Given the description of an element on the screen output the (x, y) to click on. 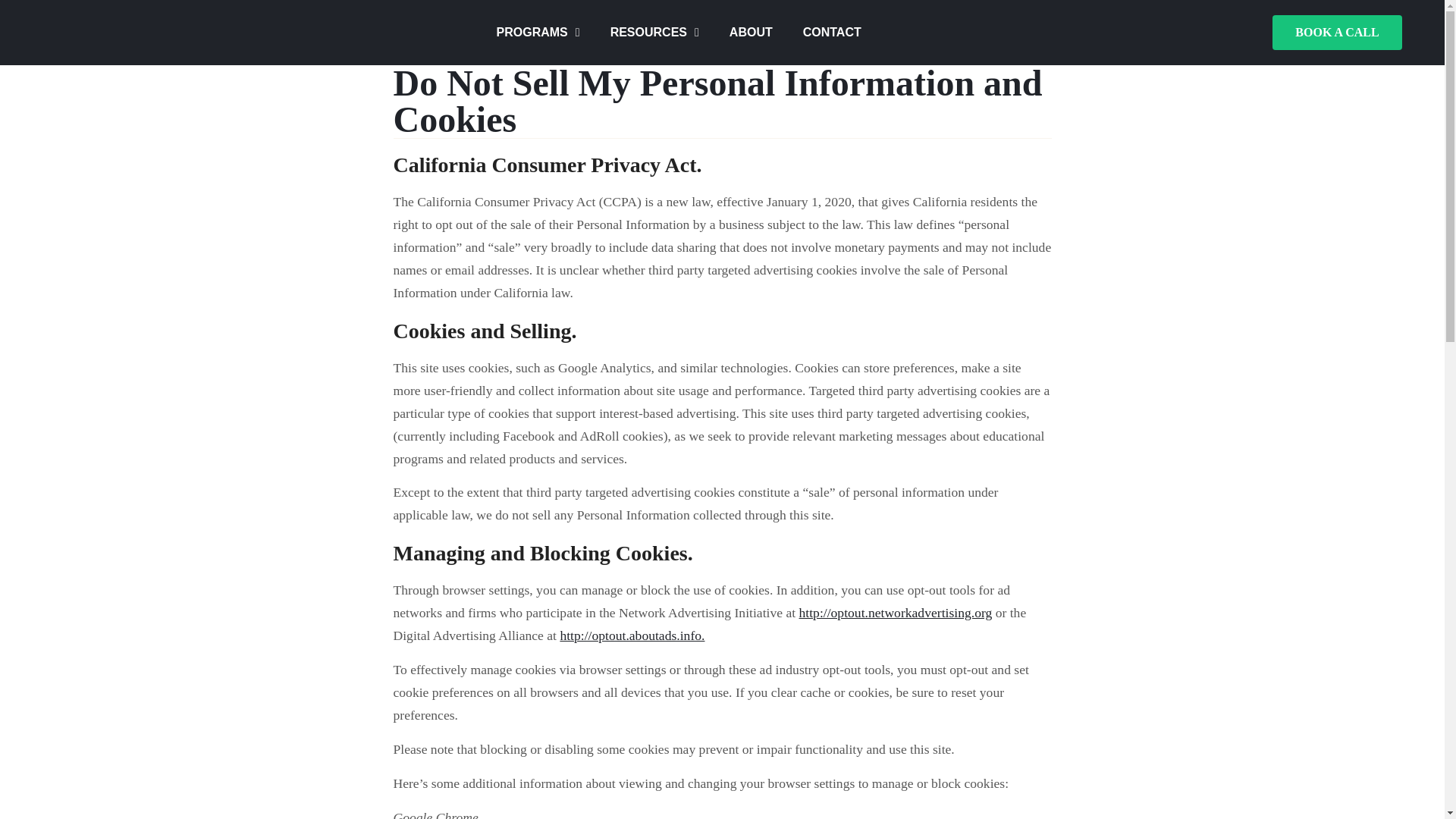
ABOUT (750, 32)
PROGRAMS (538, 32)
RESOURCES (654, 32)
CONTACT (831, 32)
